Given the description of an element on the screen output the (x, y) to click on. 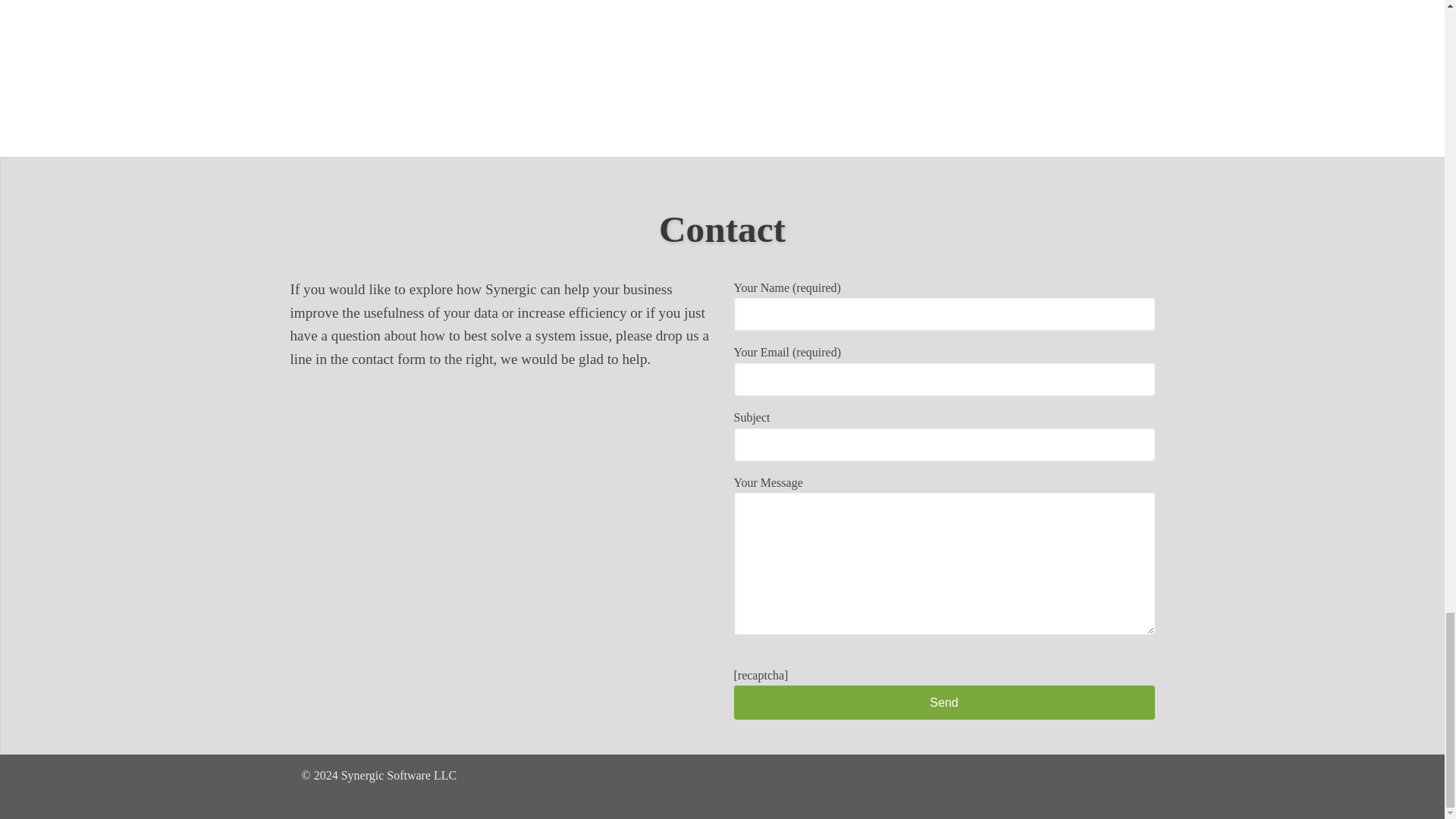
Send (943, 702)
Send (943, 702)
